Given the description of an element on the screen output the (x, y) to click on. 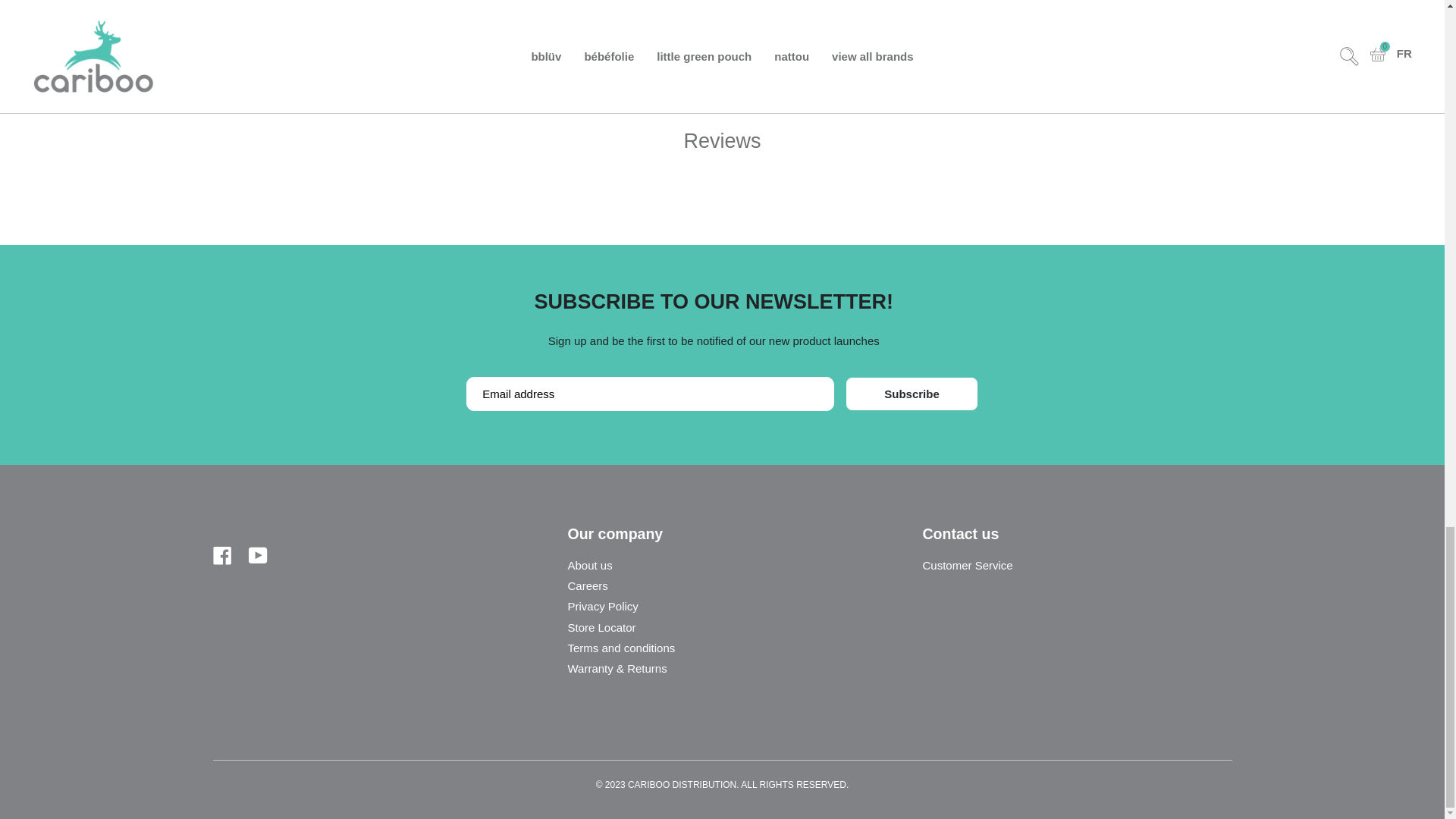
Cariboo Distribution on Youtube (257, 554)
Cariboo Distribution on Facebook (221, 554)
